Given the description of an element on the screen output the (x, y) to click on. 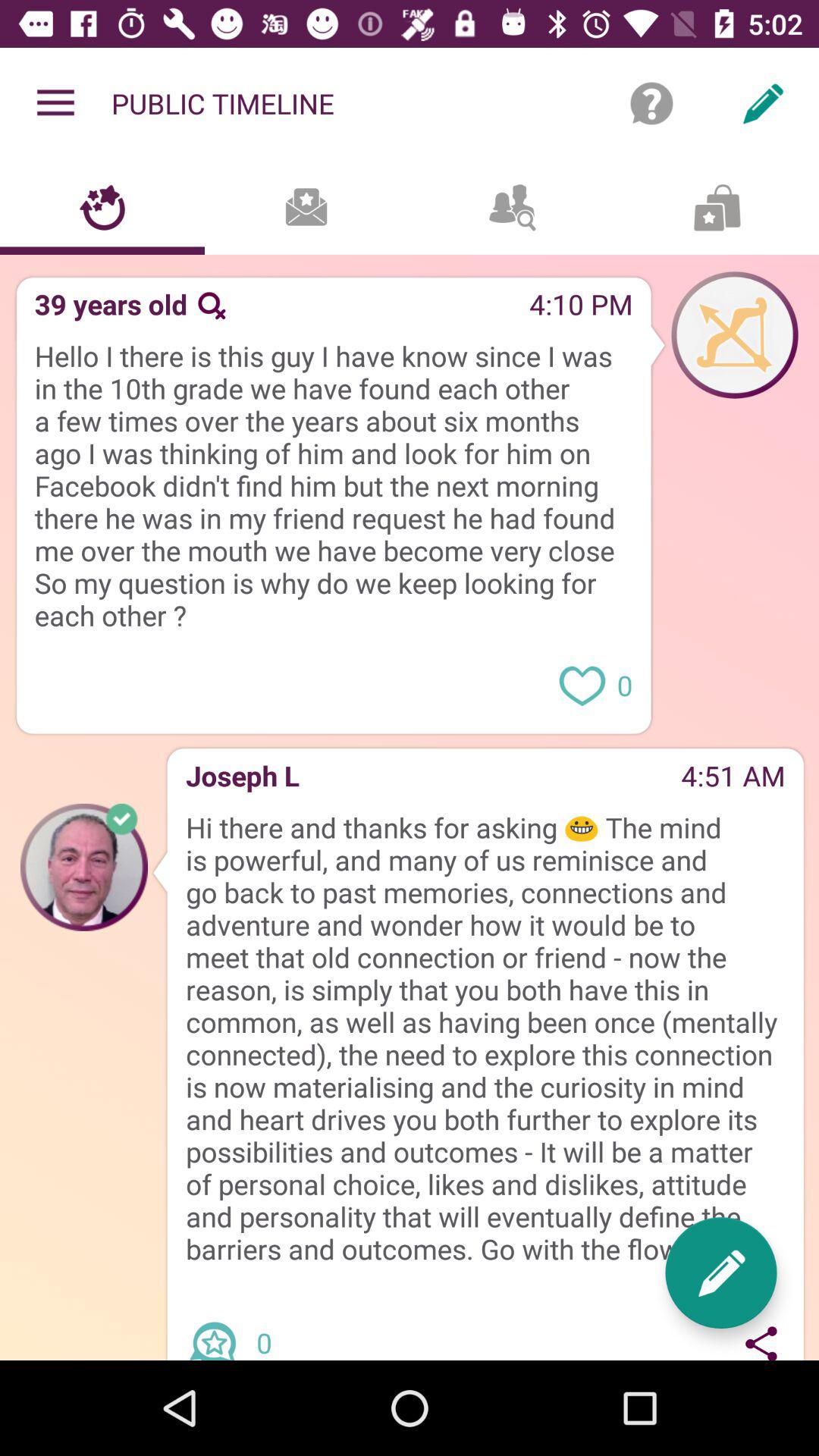
responses (218, 1327)
